Given the description of an element on the screen output the (x, y) to click on. 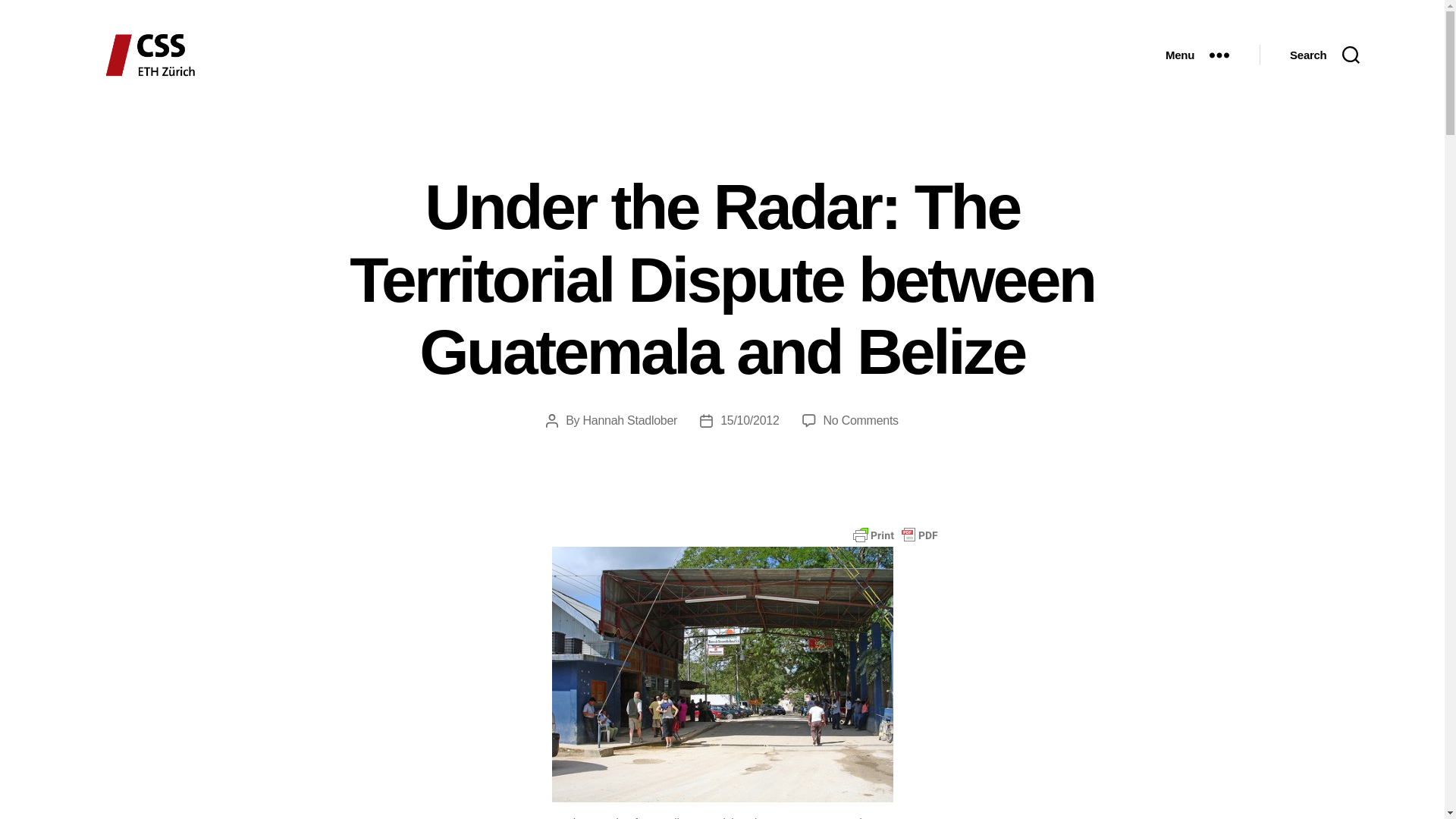
Menu (1197, 55)
Hannah Stadlober (629, 420)
Border crossing from Belize at Melchor de Mencos, Guatemala (722, 674)
Search (1324, 55)
